Given the description of an element on the screen output the (x, y) to click on. 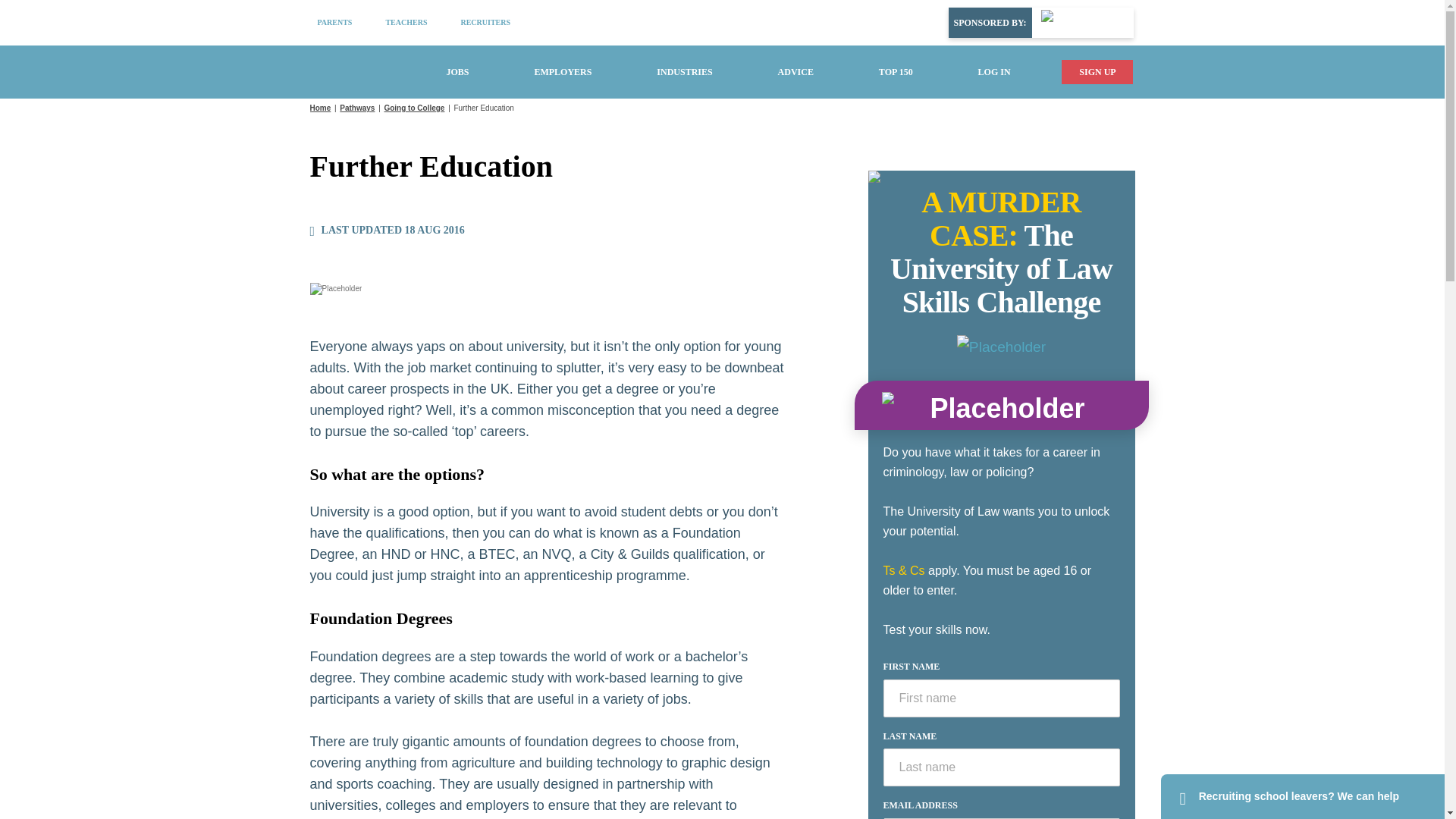
ALLABOUTSCHOOLLEAVERS (361, 71)
INDUSTRIES (684, 71)
EMPLOYERS (562, 71)
JOBS (456, 71)
ADVICE (795, 71)
